Given the description of an element on the screen output the (x, y) to click on. 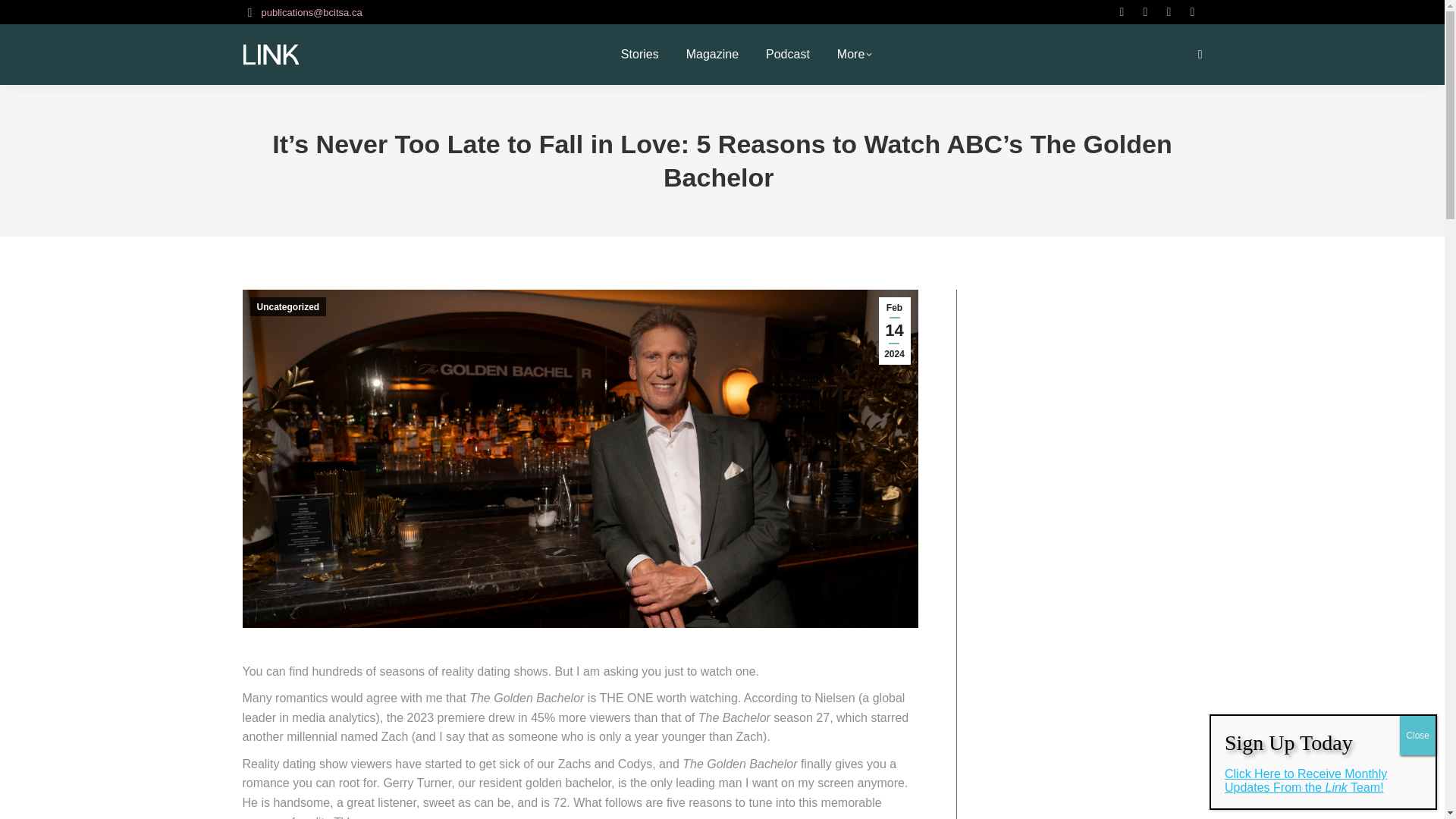
More (854, 54)
Instagram page opens in new window (1121, 12)
Stories (639, 54)
Go! (24, 16)
Linkedin page opens in new window (1145, 12)
Linkedin page opens in new window (1145, 12)
YouTube page opens in new window (1192, 12)
Magazine (711, 54)
Instagram page opens in new window (1121, 12)
Facebook page opens in new window (1167, 12)
Facebook page opens in new window (1167, 12)
YouTube page opens in new window (1192, 12)
Podcast (787, 54)
